Given the description of an element on the screen output the (x, y) to click on. 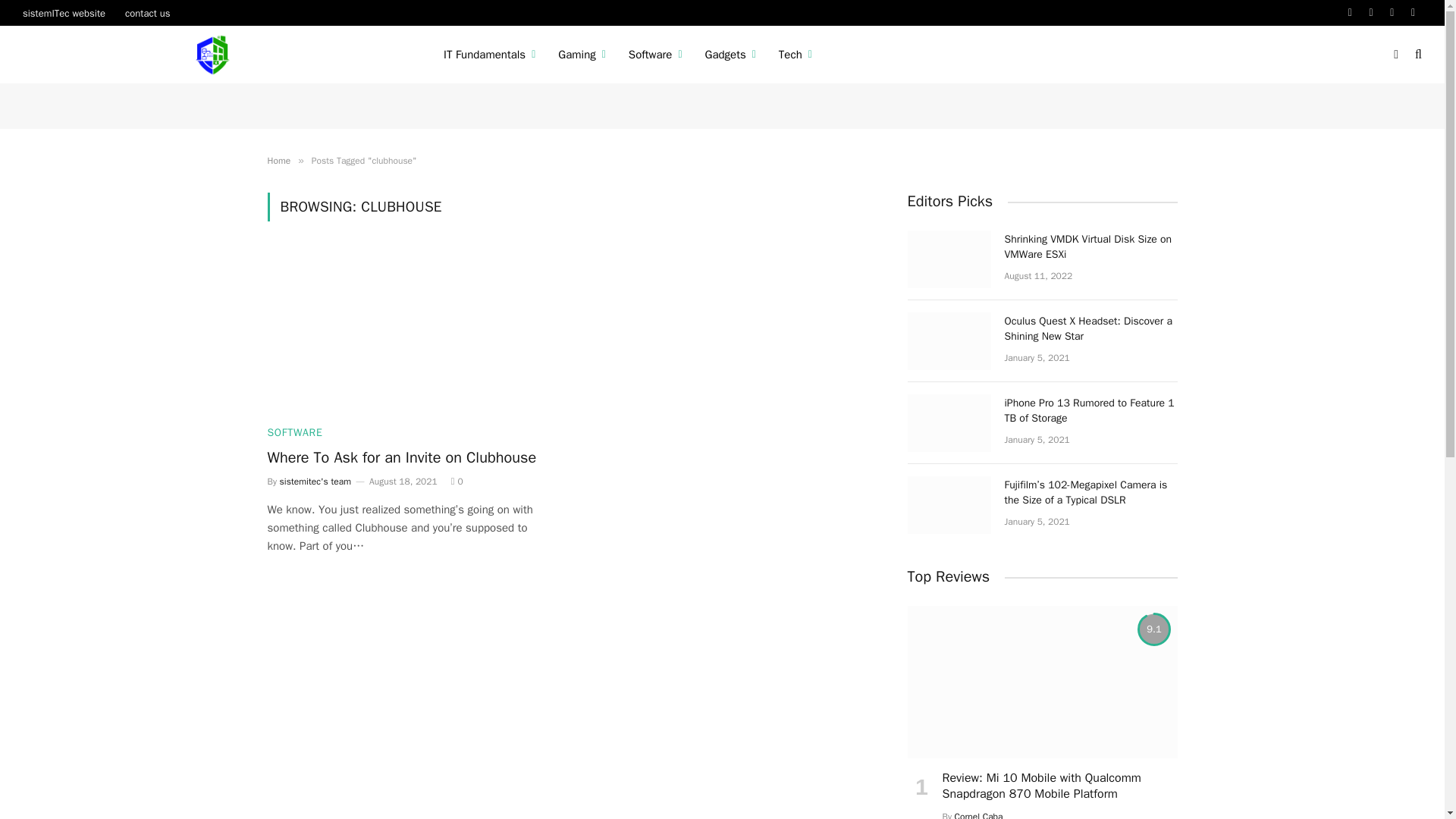
Gaming (582, 54)
blog sistemITec (214, 54)
Software (655, 54)
contact us (147, 12)
sistemITec website (64, 12)
IT Fundamentals (489, 54)
